Given the description of an element on the screen output the (x, y) to click on. 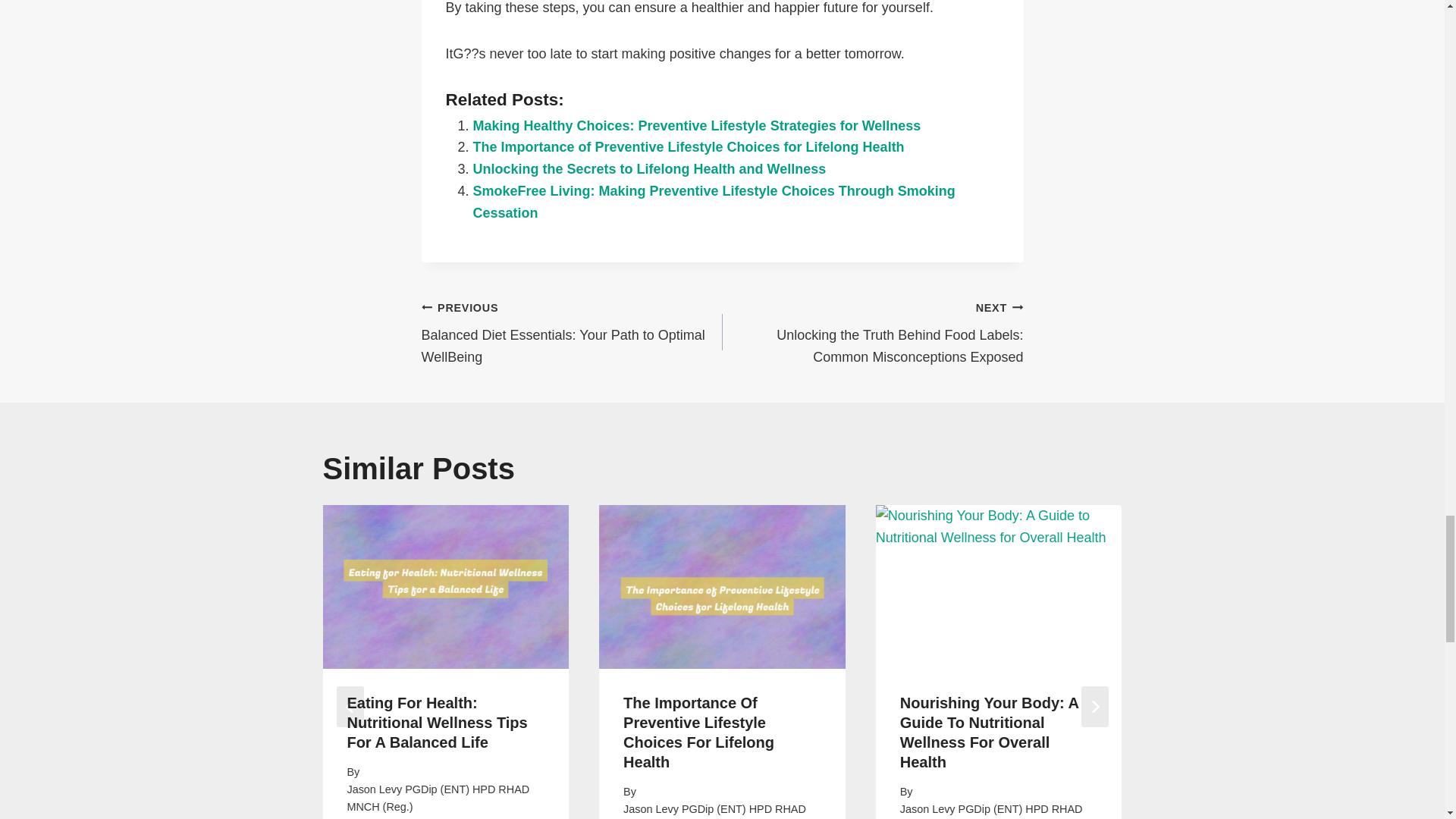
Unlocking the Secrets to Lifelong Health and Wellness (650, 168)
Unlocking the Secrets to Lifelong Health and Wellness (650, 168)
